Given the description of an element on the screen output the (x, y) to click on. 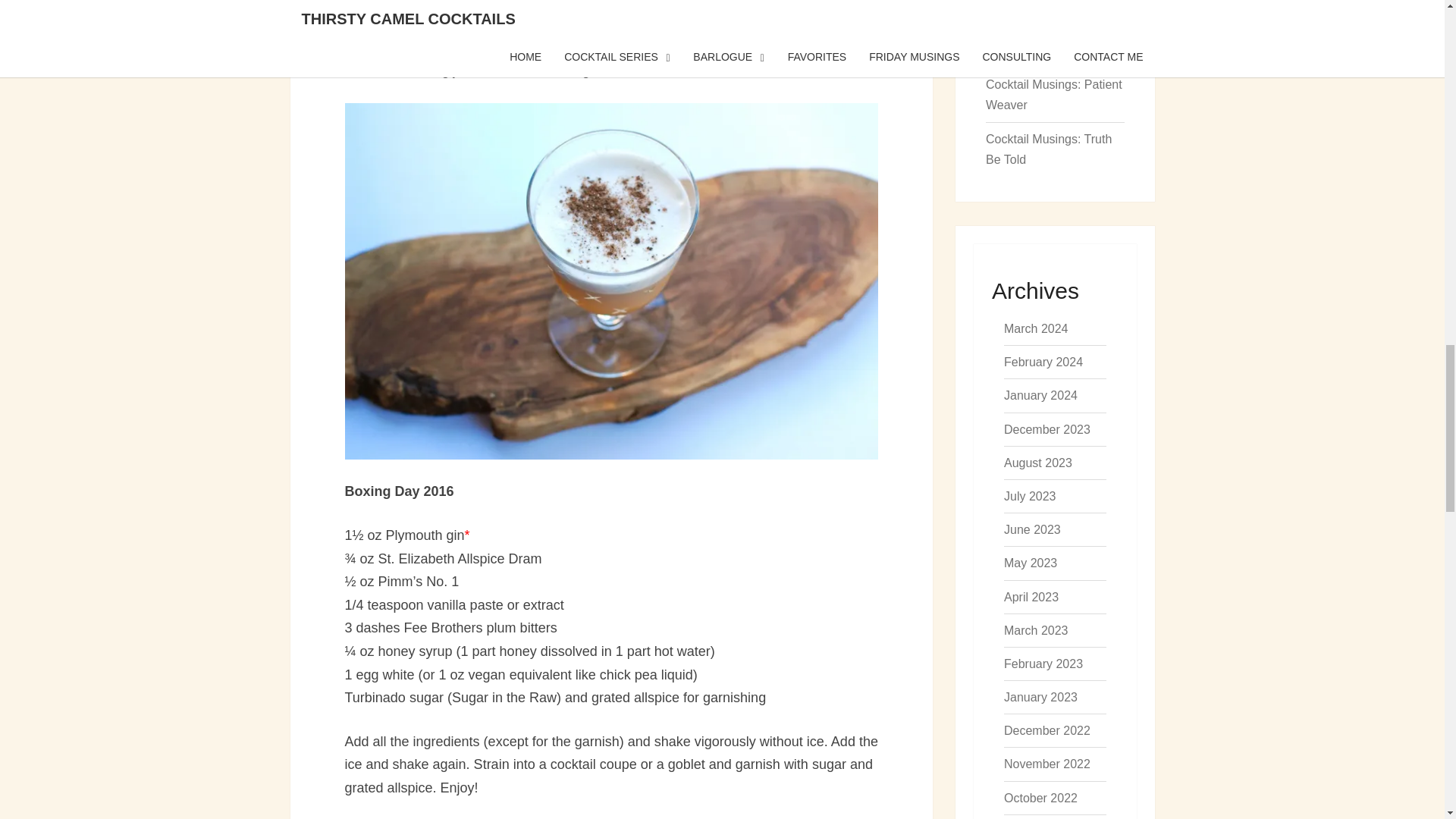
Turbinado (500, 4)
